Given the description of an element on the screen output the (x, y) to click on. 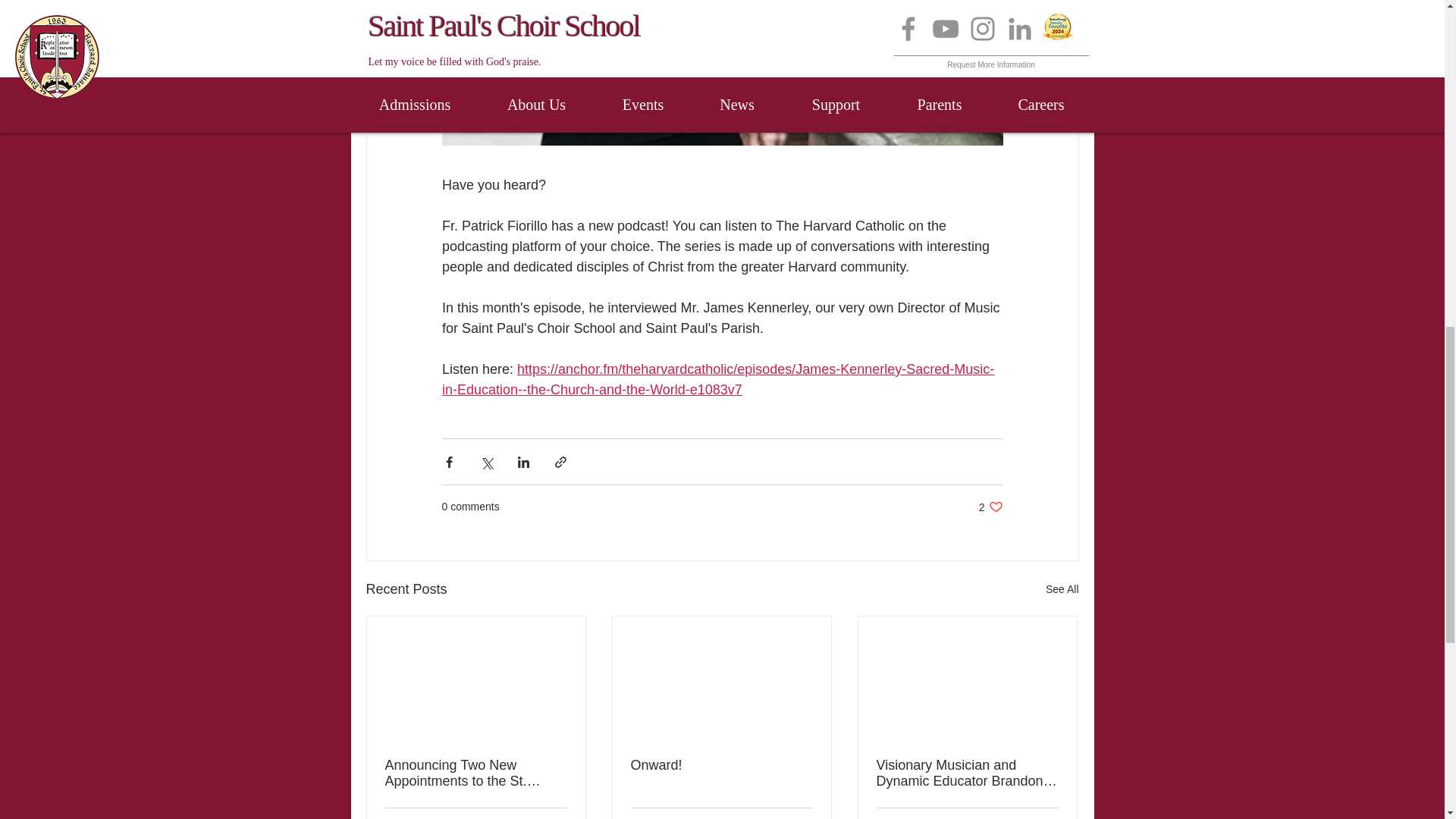
See All (990, 506)
